Given the description of an element on the screen output the (x, y) to click on. 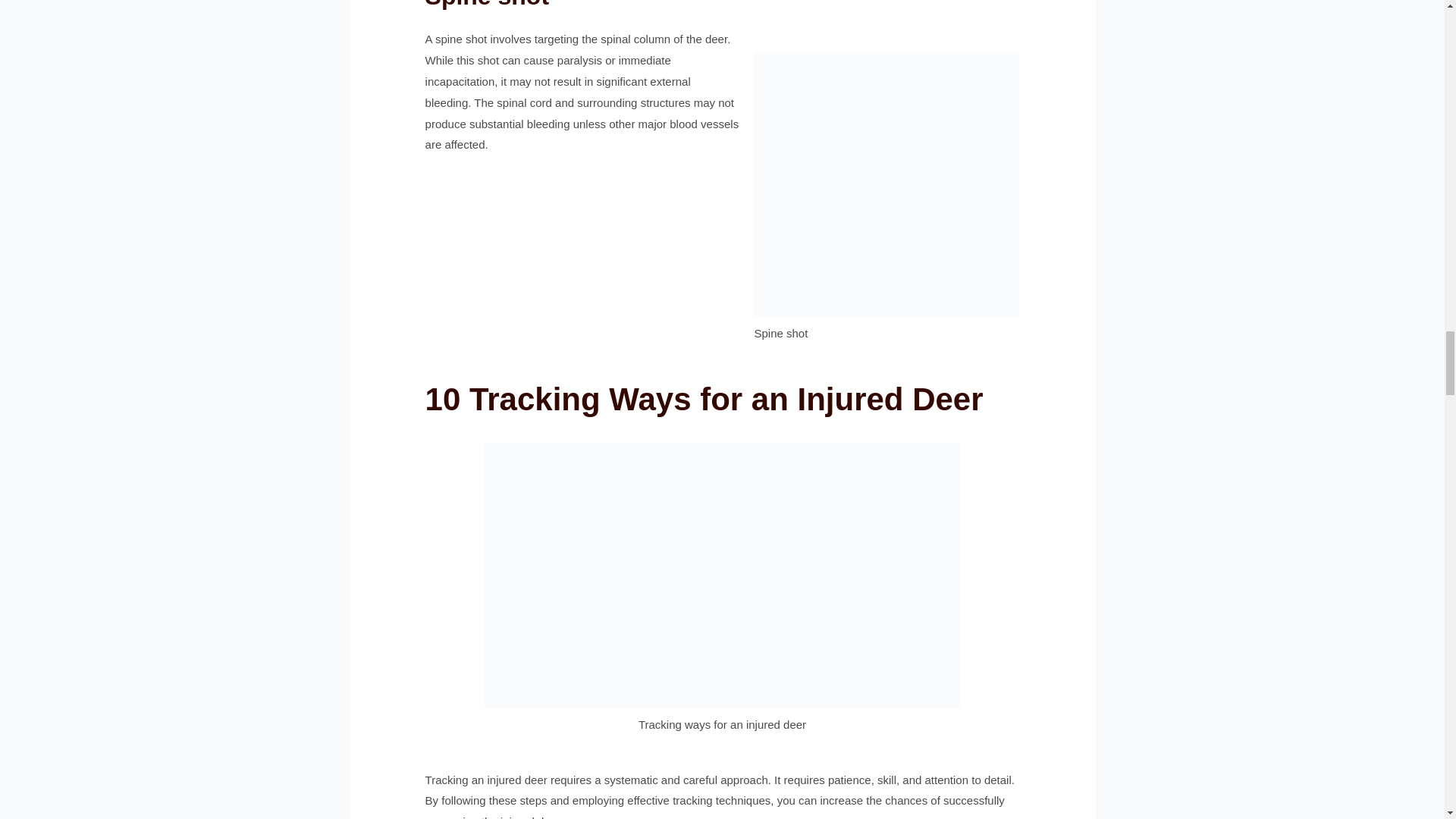
Arrow Stuck In Deer No Blood 7 (886, 183)
Arrow Stuck In Deer No Blood 8 (721, 575)
